Given the description of an element on the screen output the (x, y) to click on. 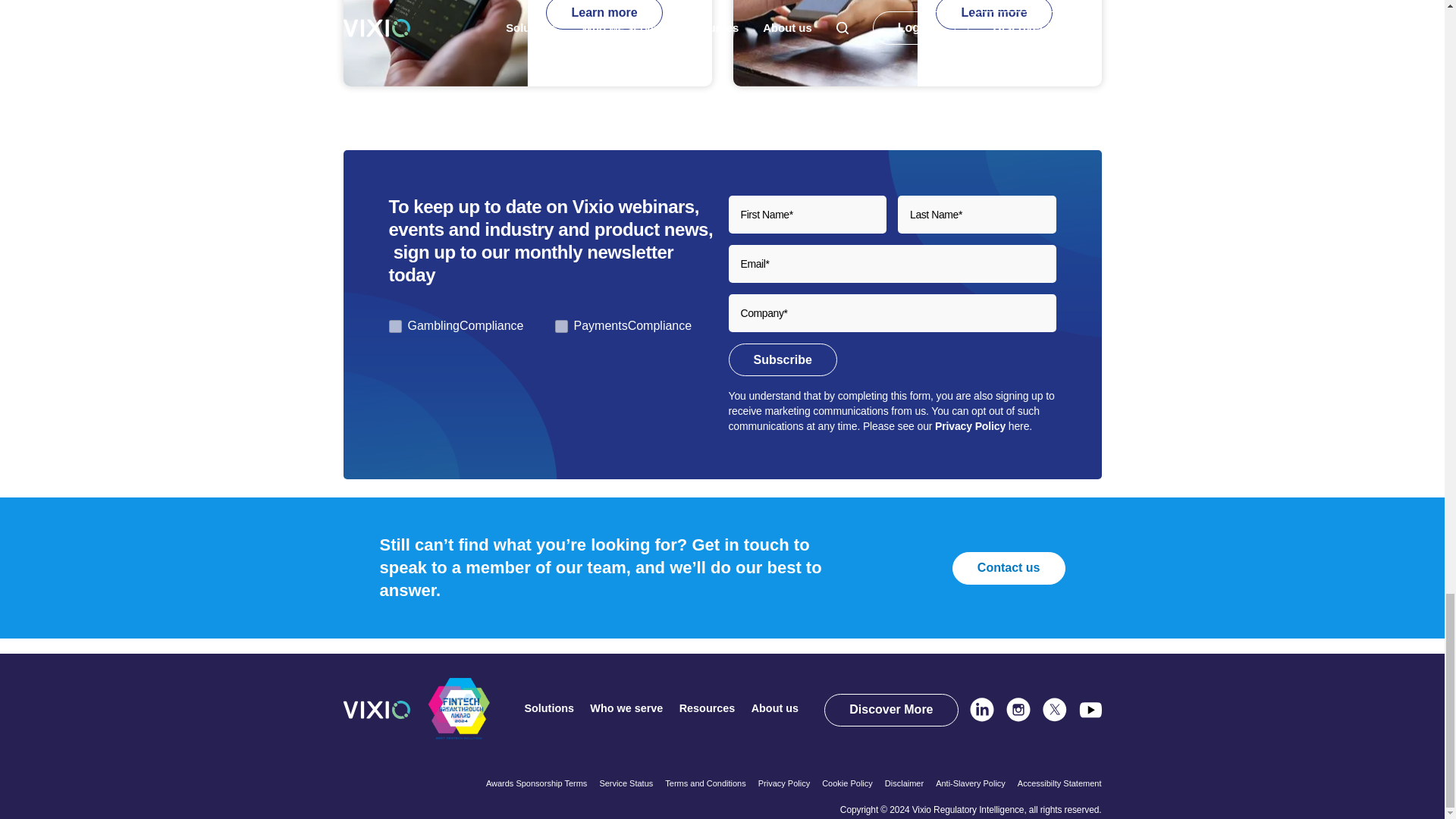
Subscribe (781, 359)
on (394, 326)
on (560, 326)
